Given the description of an element on the screen output the (x, y) to click on. 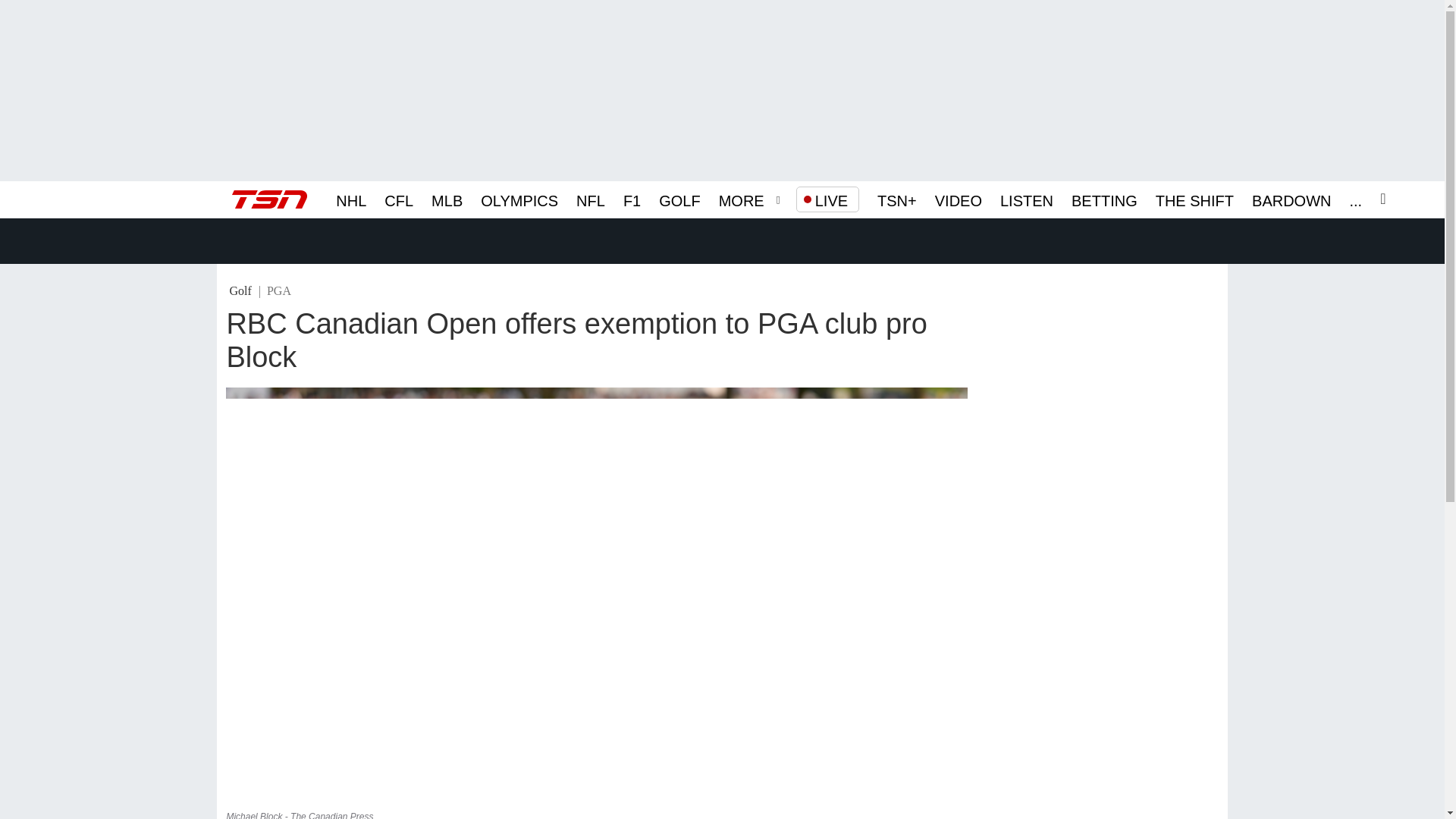
MORE (741, 199)
NHL (351, 199)
CFL (398, 199)
OLYMPICS (518, 199)
NFL (590, 199)
GOLF (679, 199)
MLB (446, 199)
TSN (269, 199)
